Given the description of an element on the screen output the (x, y) to click on. 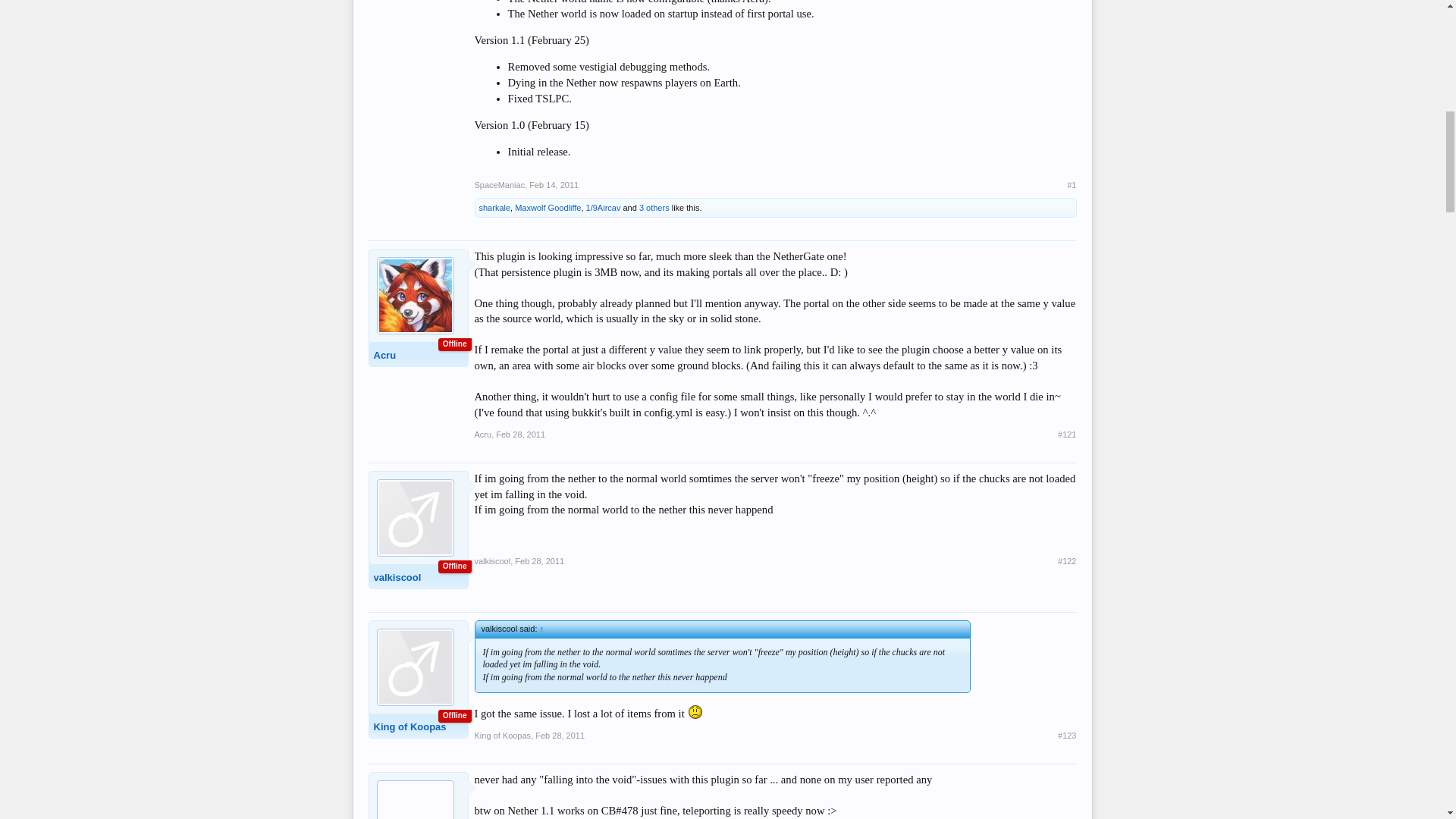
sharkale (495, 207)
Permalink (1071, 184)
Permalink (1066, 561)
Permalink (520, 433)
Feb 28, 2011 (520, 433)
SpaceManiac (499, 184)
Permalink (539, 560)
Permalink (553, 184)
Permalink (1066, 735)
Acru (483, 433)
Permalink (1066, 434)
Permalink (560, 735)
Maxwolf Goodliffe (547, 207)
Acru (414, 353)
Feb 14, 2011 (553, 184)
